Given the description of an element on the screen output the (x, y) to click on. 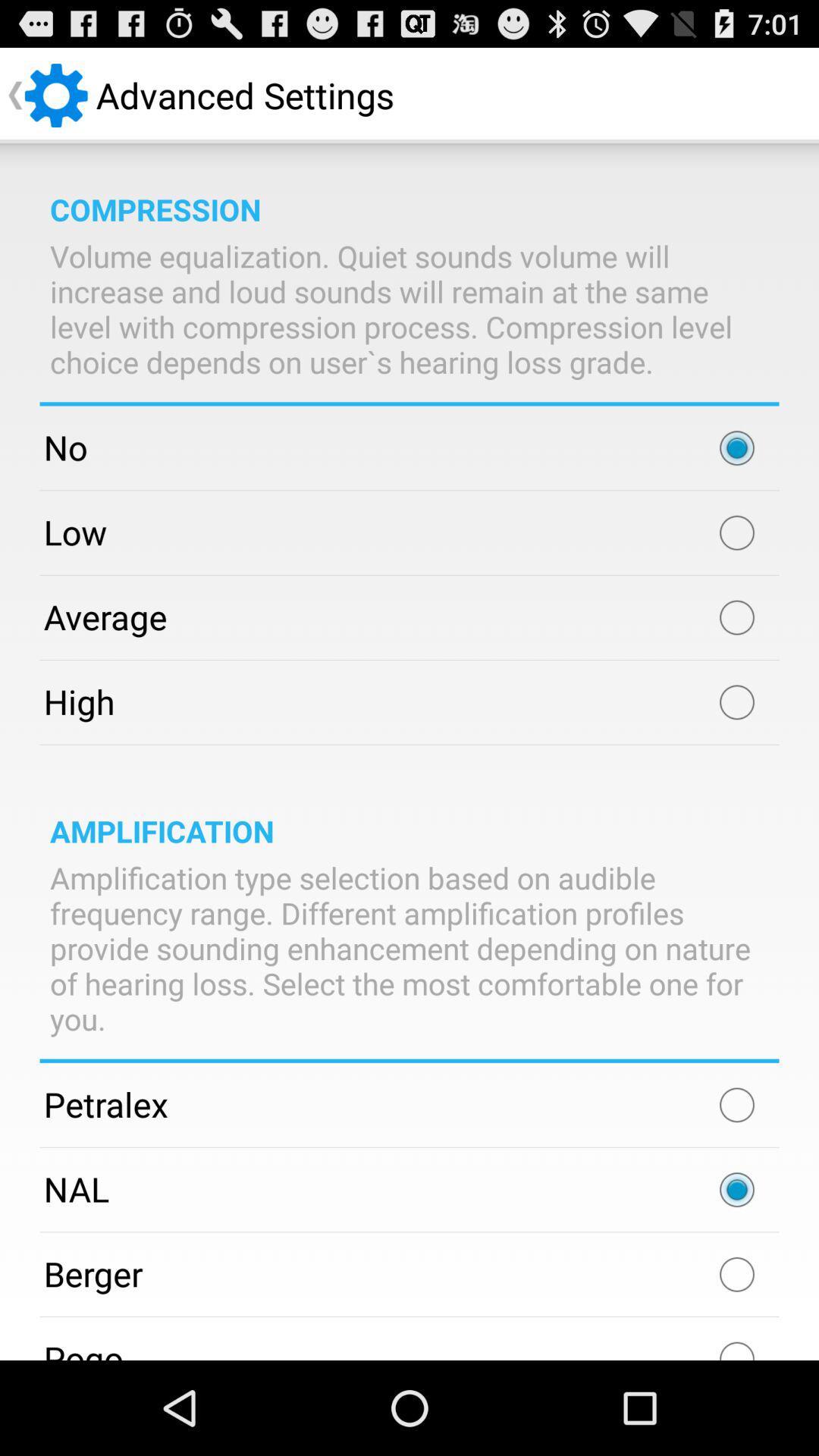
choose your choice (736, 448)
